Given the description of an element on the screen output the (x, y) to click on. 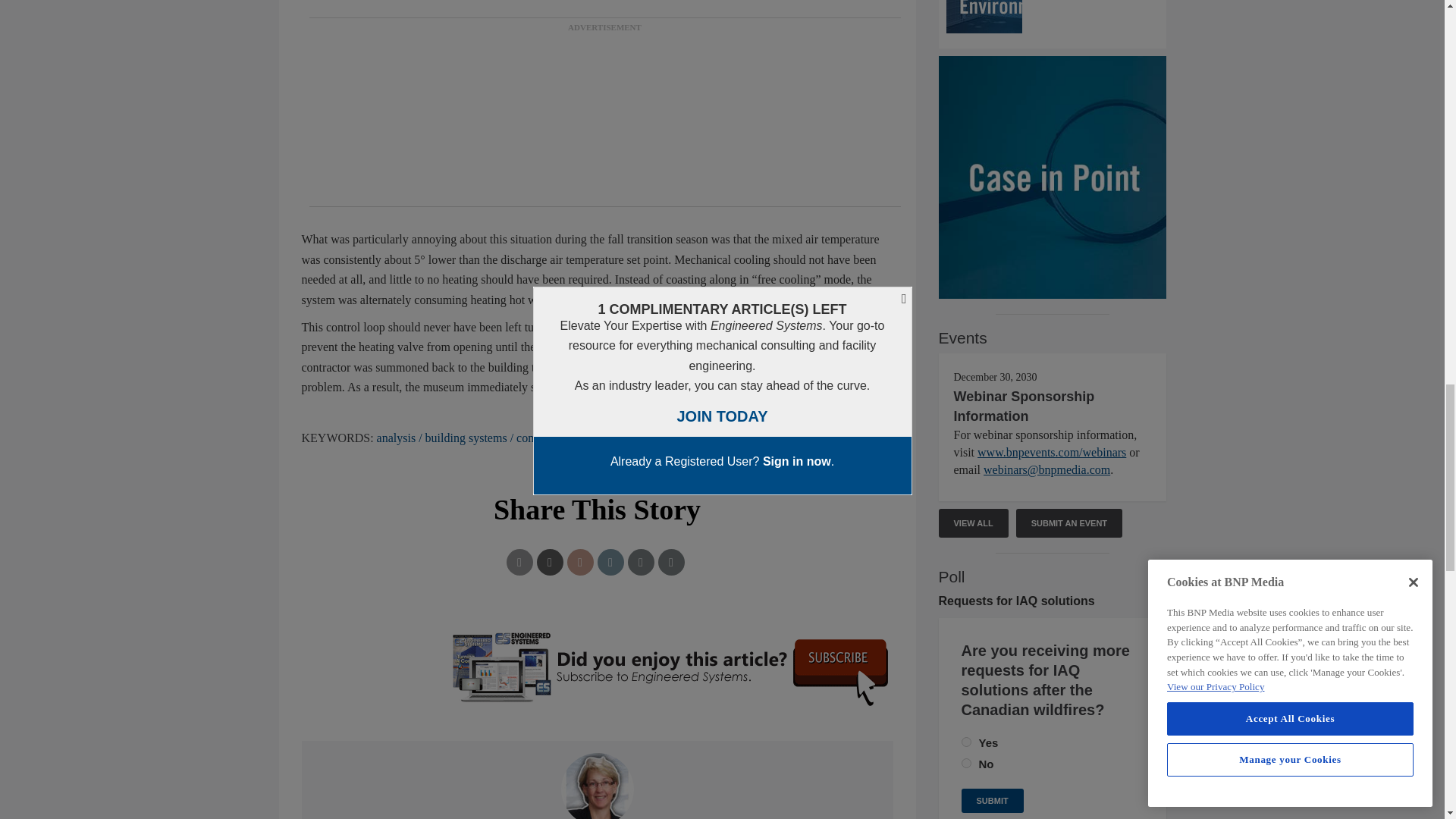
Webinar Sponsorship Information (1023, 406)
196 (965, 741)
Chilled Water Cooling Load Diversity (1052, 16)
195 (965, 763)
Submit (991, 800)
